Given the description of an element on the screen output the (x, y) to click on. 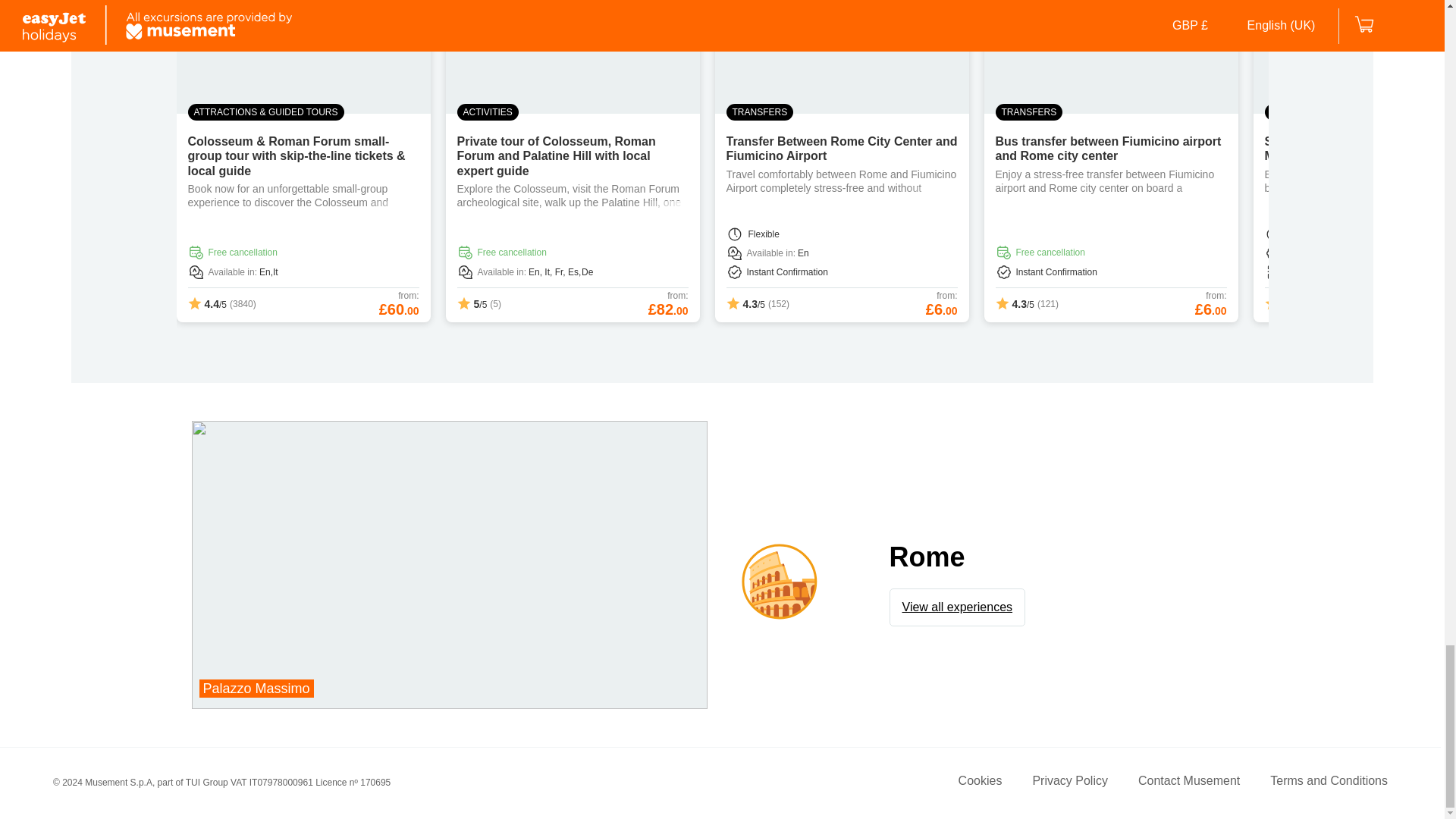
Contact Musement (1328, 782)
Privacy Policy (1189, 782)
Transfer Between Rome City Center and Fiumicino Airport (1070, 782)
View all experiences (842, 148)
Cookies (957, 607)
Bus transfer between Fiumicino airport and Rome city center (980, 782)
